Given the description of an element on the screen output the (x, y) to click on. 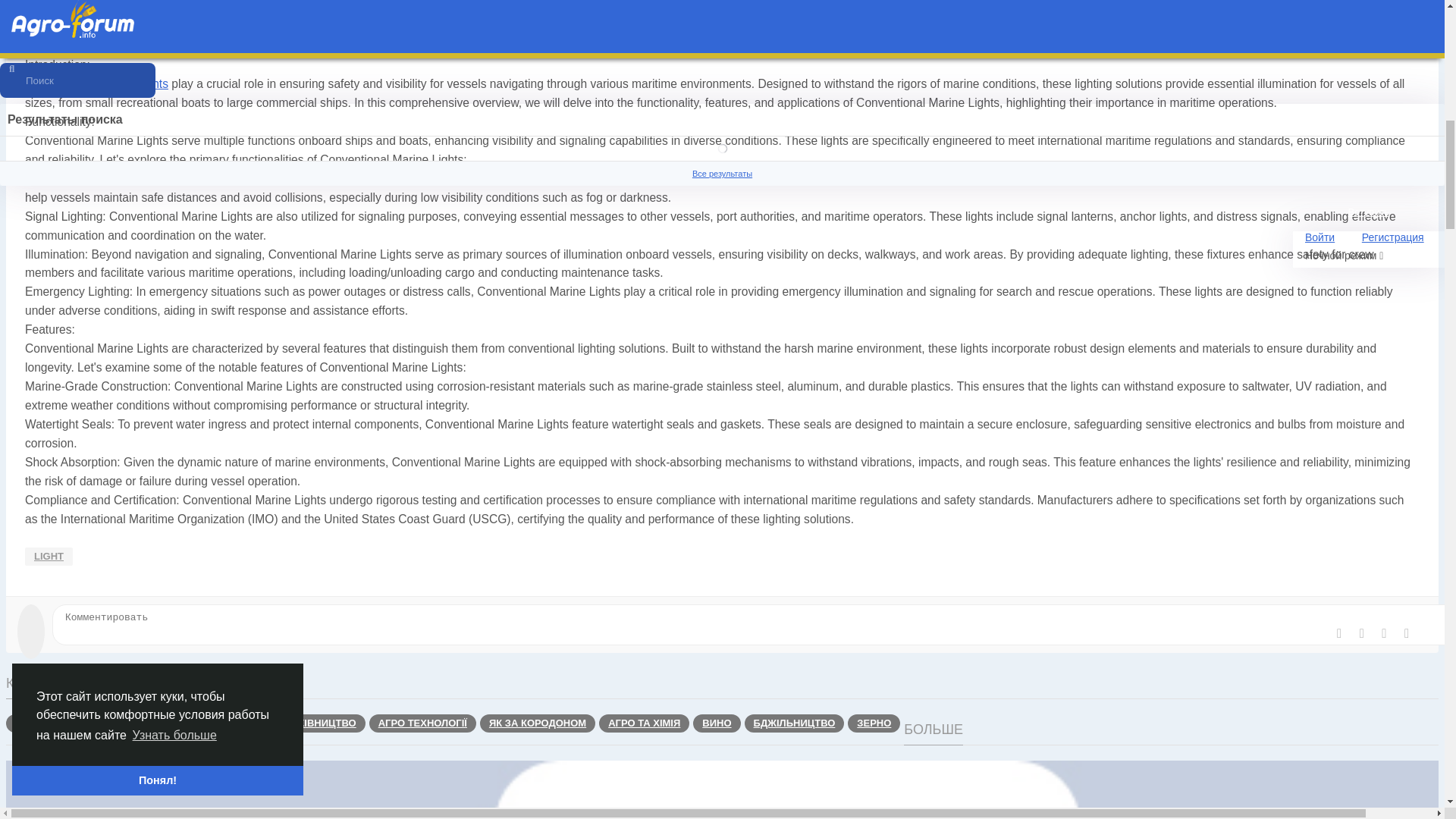
Conventional Marine Lights (96, 83)
LIGHT (48, 556)
